Given the description of an element on the screen output the (x, y) to click on. 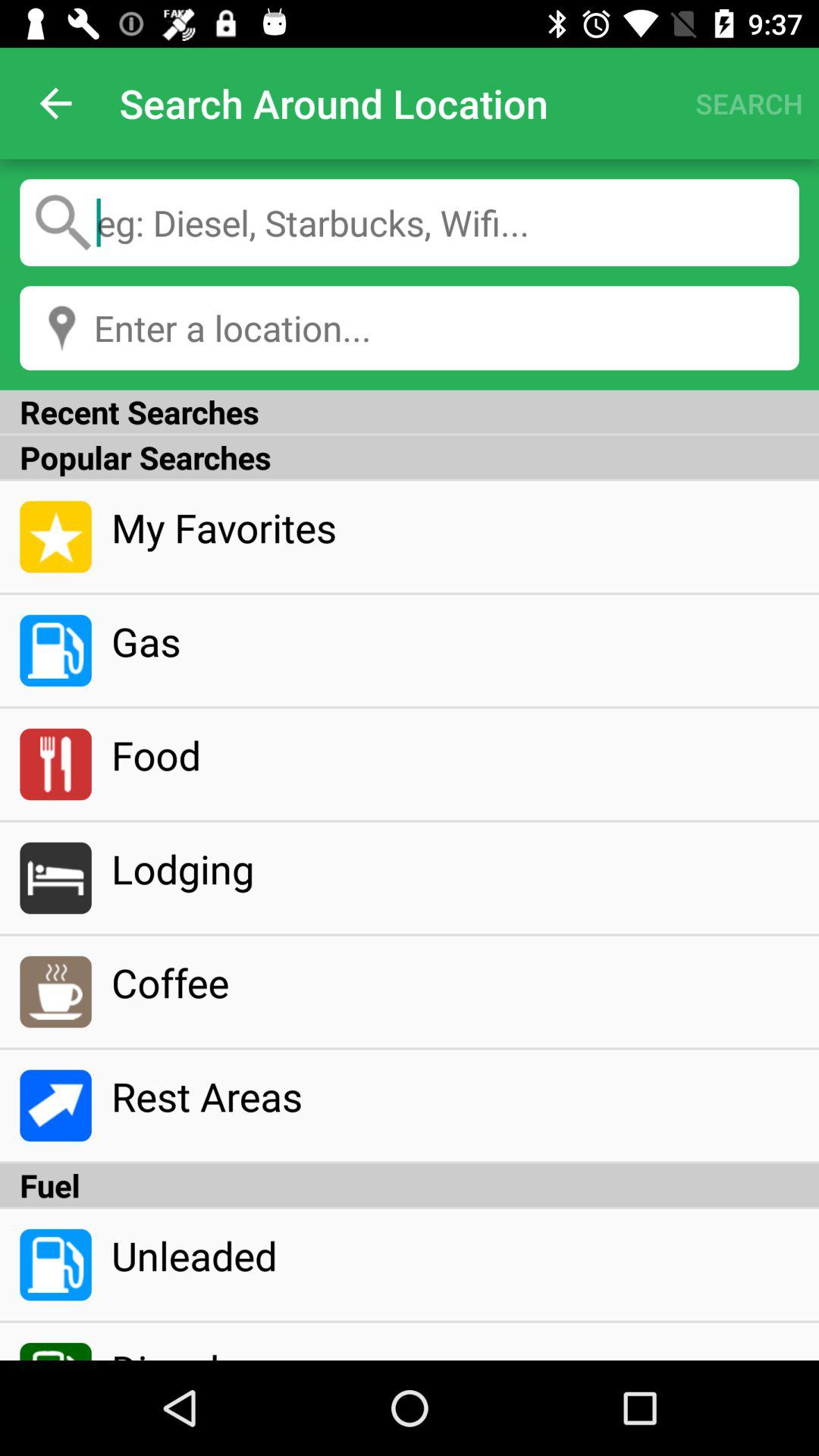
swipe until food item (455, 754)
